Given the description of an element on the screen output the (x, y) to click on. 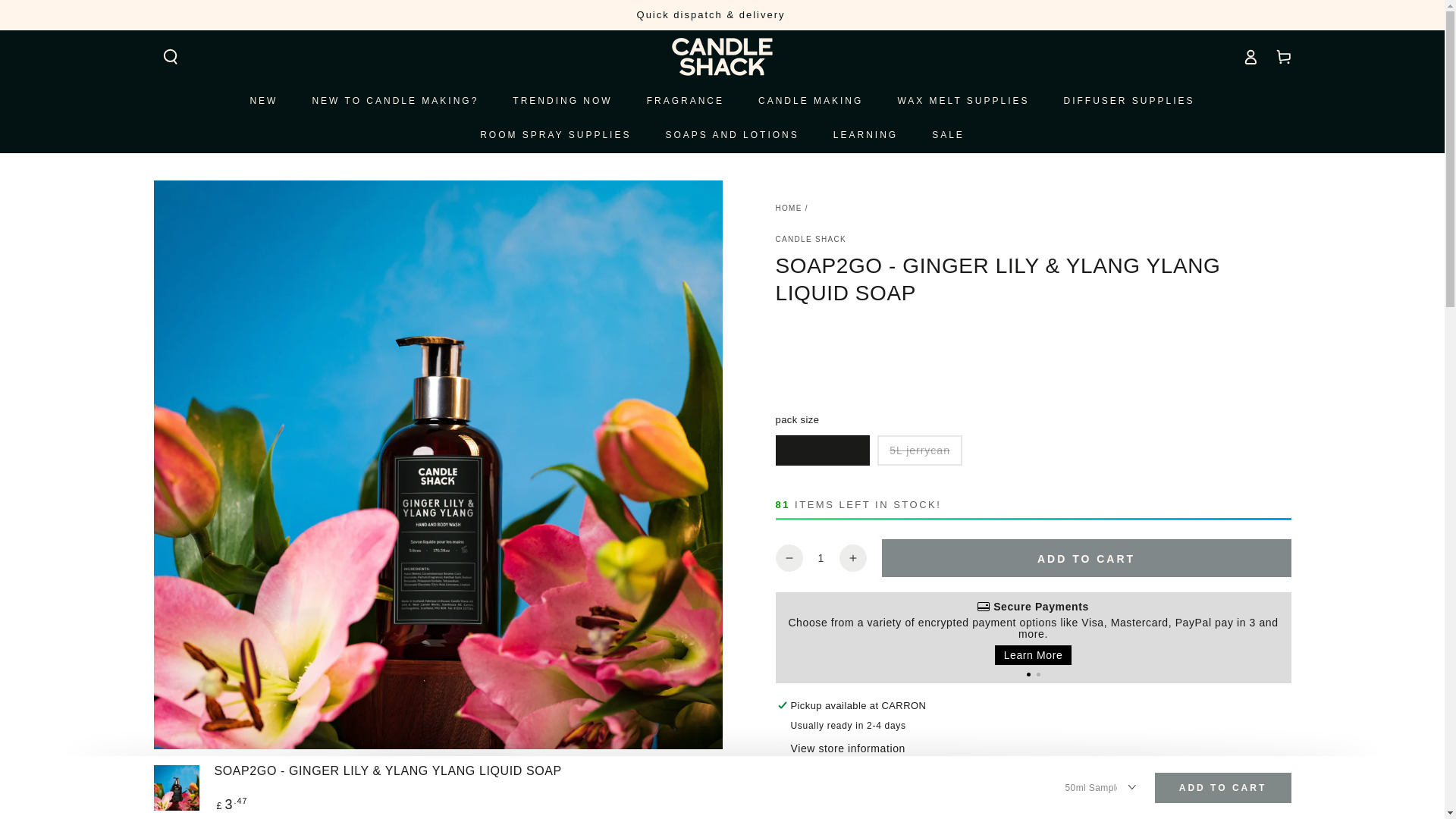
1 (820, 557)
SKIP TO CONTENT (67, 14)
Back to the frontpage (788, 207)
Customer reviews powered by Trustpilot (1032, 331)
Candle Shack (809, 239)
